Given the description of an element on the screen output the (x, y) to click on. 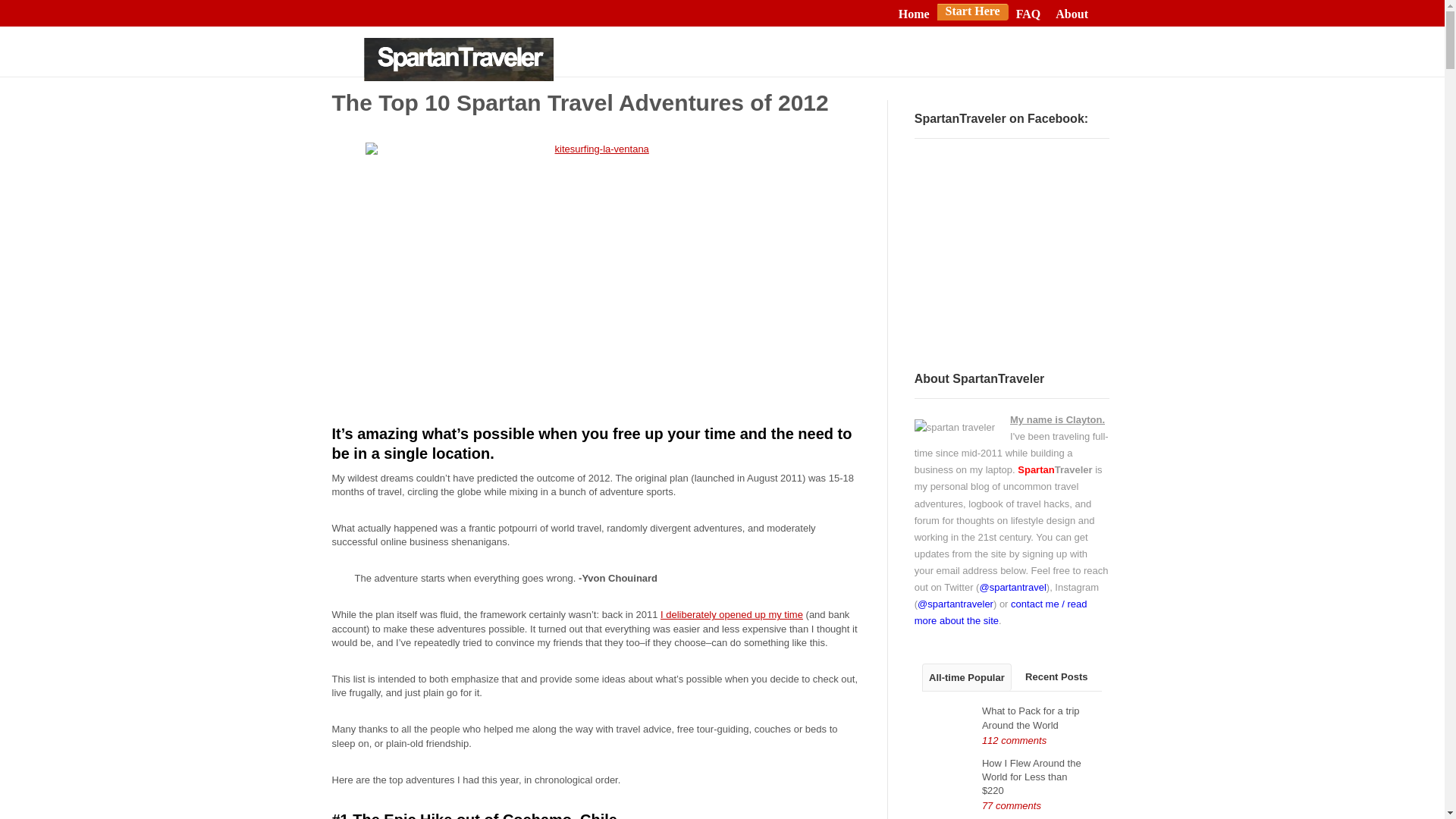
Start Here (972, 11)
Home (914, 14)
About (1071, 14)
FAQ (1028, 14)
I deliberately opened up my time (732, 614)
